Given the description of an element on the screen output the (x, y) to click on. 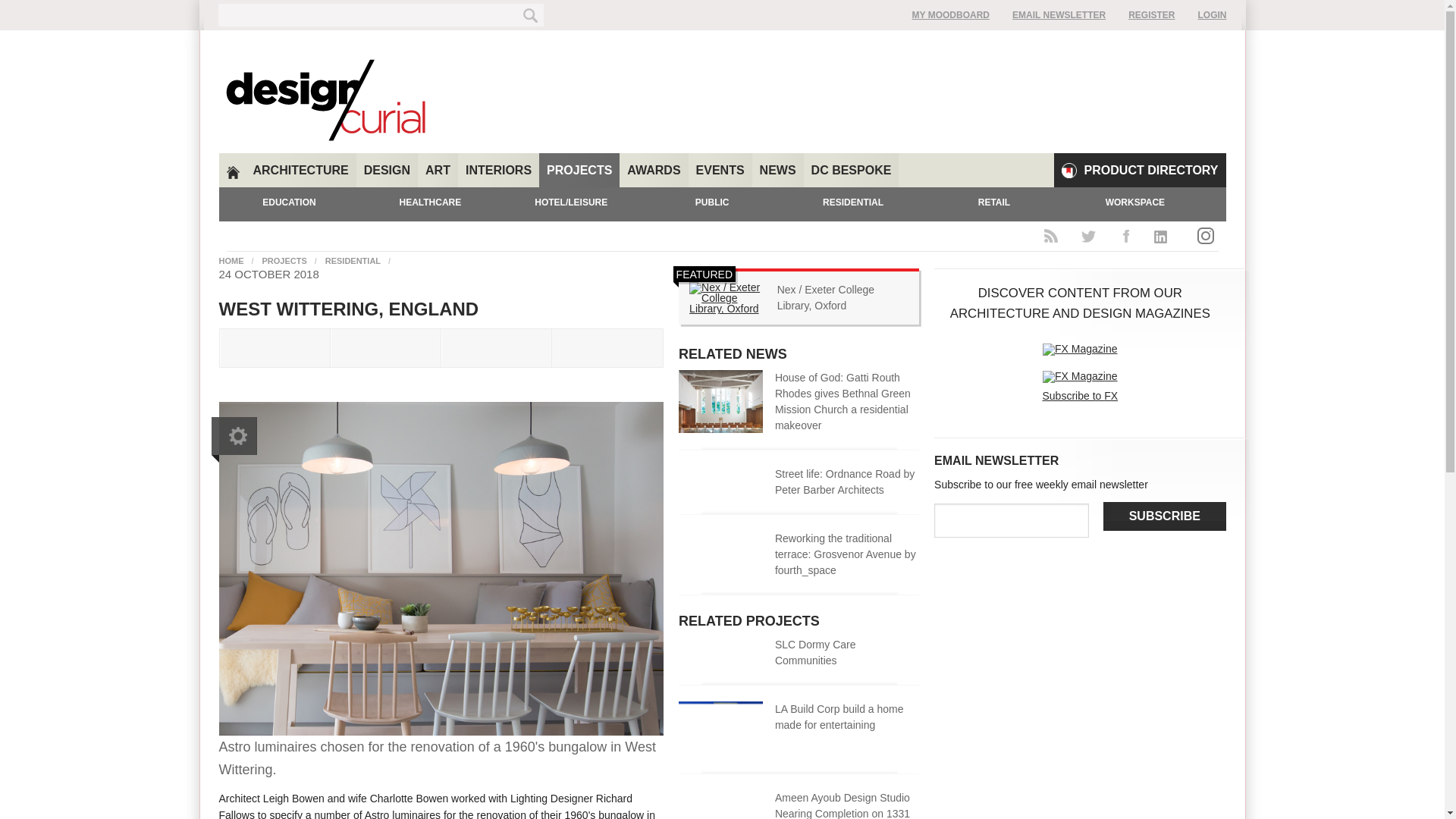
linkedin (1163, 232)
DESIGN (386, 170)
Subscribe (1164, 516)
RETAIL (993, 202)
REGISTER (1151, 15)
RSS (1049, 232)
Search (532, 15)
LinkedIn (1163, 232)
WORKSPACE (1134, 202)
rss (1049, 232)
ARCHITECTURE (301, 170)
instagram.com (1205, 235)
West Wittering, England (440, 731)
facebook (1125, 232)
DC BESPOKE (851, 170)
